Given the description of an element on the screen output the (x, y) to click on. 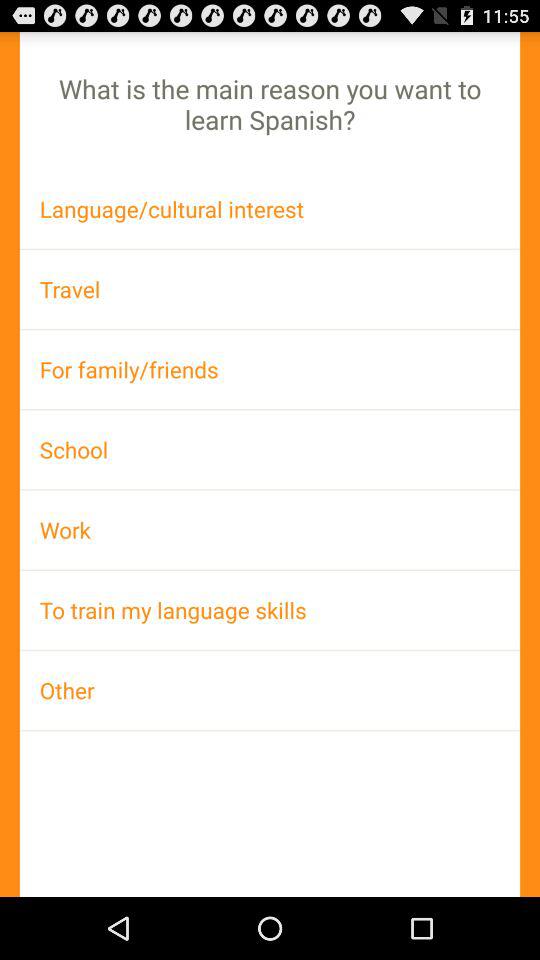
click for family/friends (269, 369)
